Given the description of an element on the screen output the (x, y) to click on. 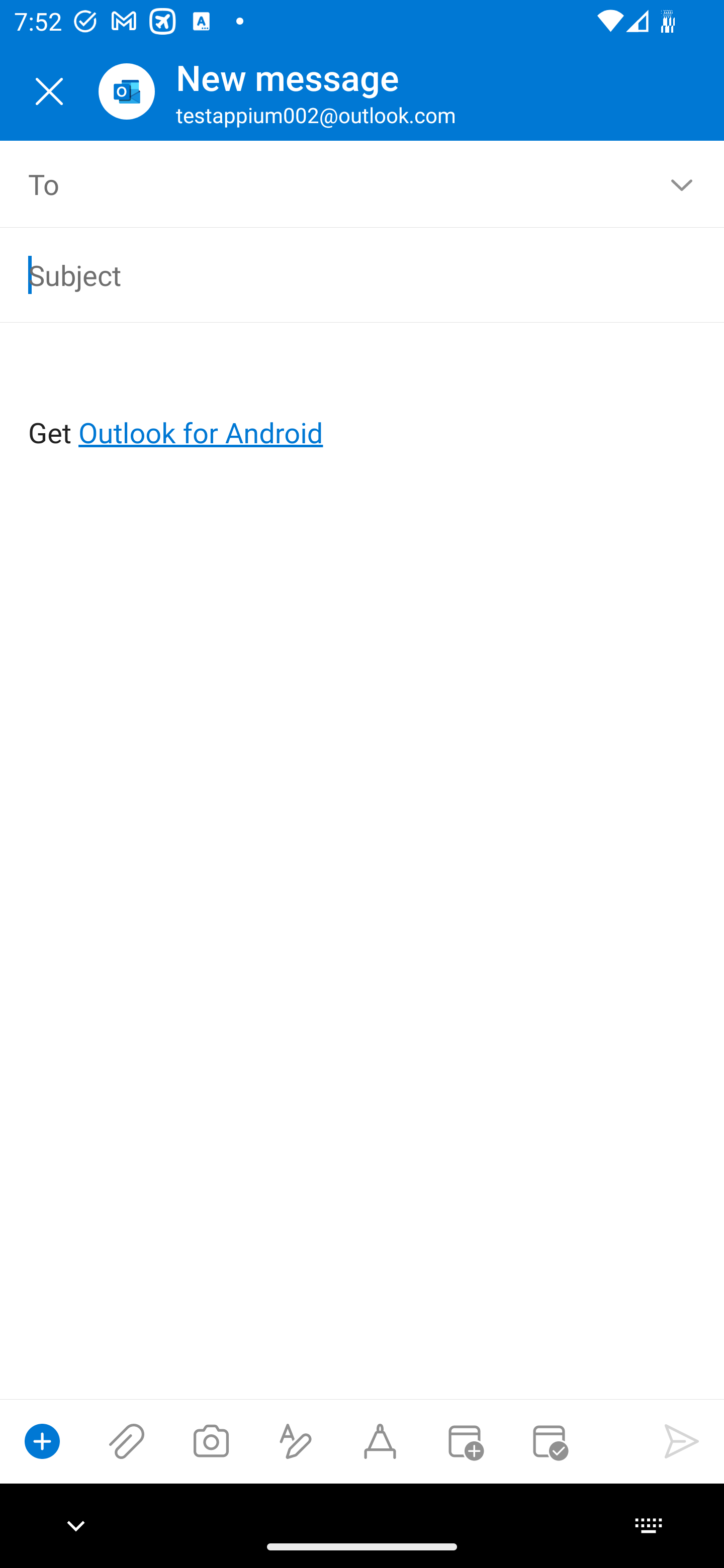
Close (49, 91)
Subject (333, 274)


Get Outlook for Android (363, 400)
Show compose options (42, 1440)
Attach files (126, 1440)
Take a photo (210, 1440)
Show formatting options (295, 1440)
Start Ink compose (380, 1440)
Convert to event (464, 1440)
Send availability (548, 1440)
Send (681, 1440)
